Given the description of an element on the screen output the (x, y) to click on. 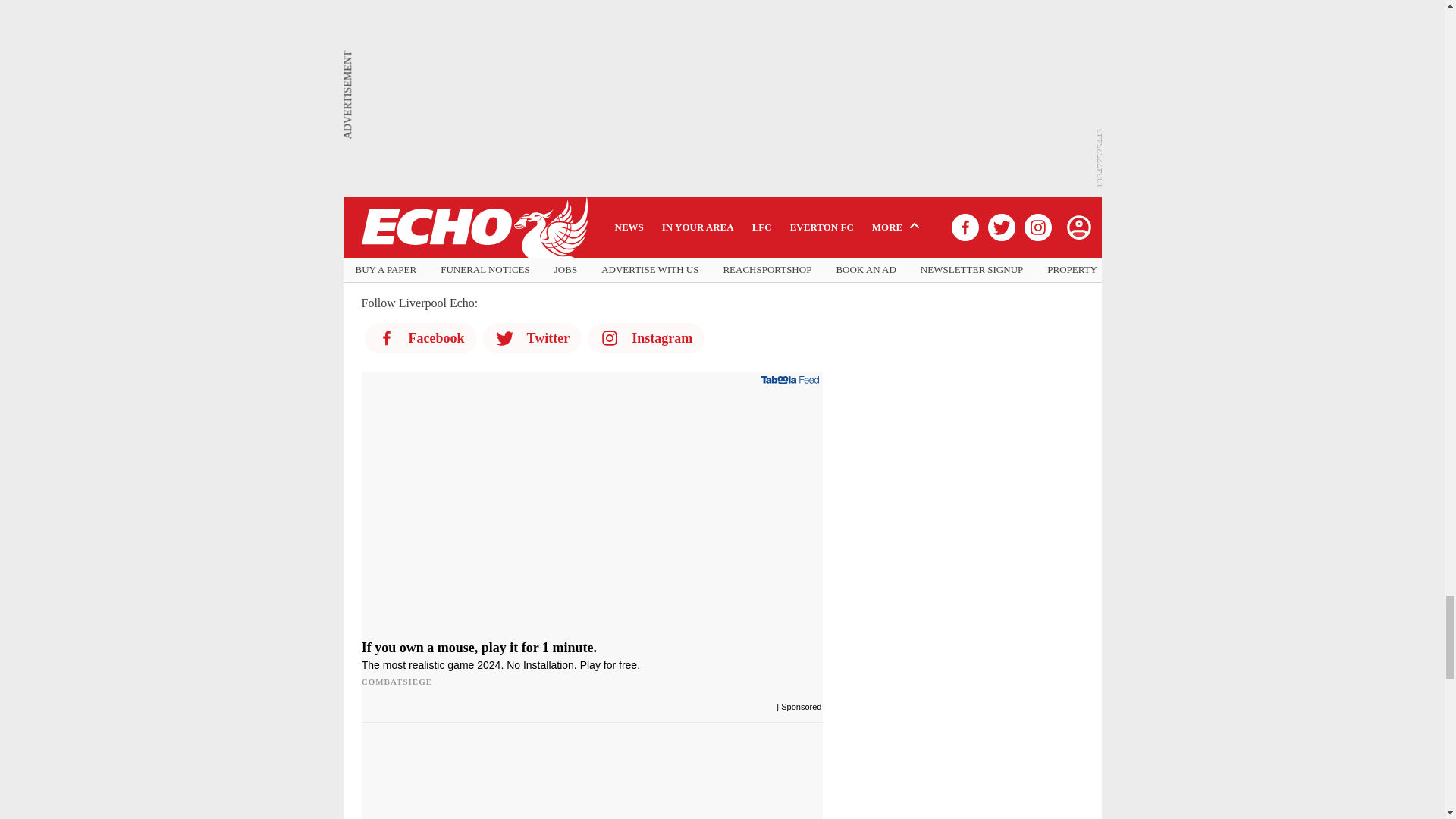
Read Next Article Icon (369, 235)
Read Next Article Icon (369, 162)
Read Next Article Icon (369, 262)
If you own a mouse, play it for 1 minute. (591, 664)
If you own a mouse, play it for 1 minute. (591, 511)
Melting Ice In Alaska Reveals Harrowing Discovery (474, 782)
Read Next Article Icon (369, 189)
Read Next Article Icon (369, 117)
